Given the description of an element on the screen output the (x, y) to click on. 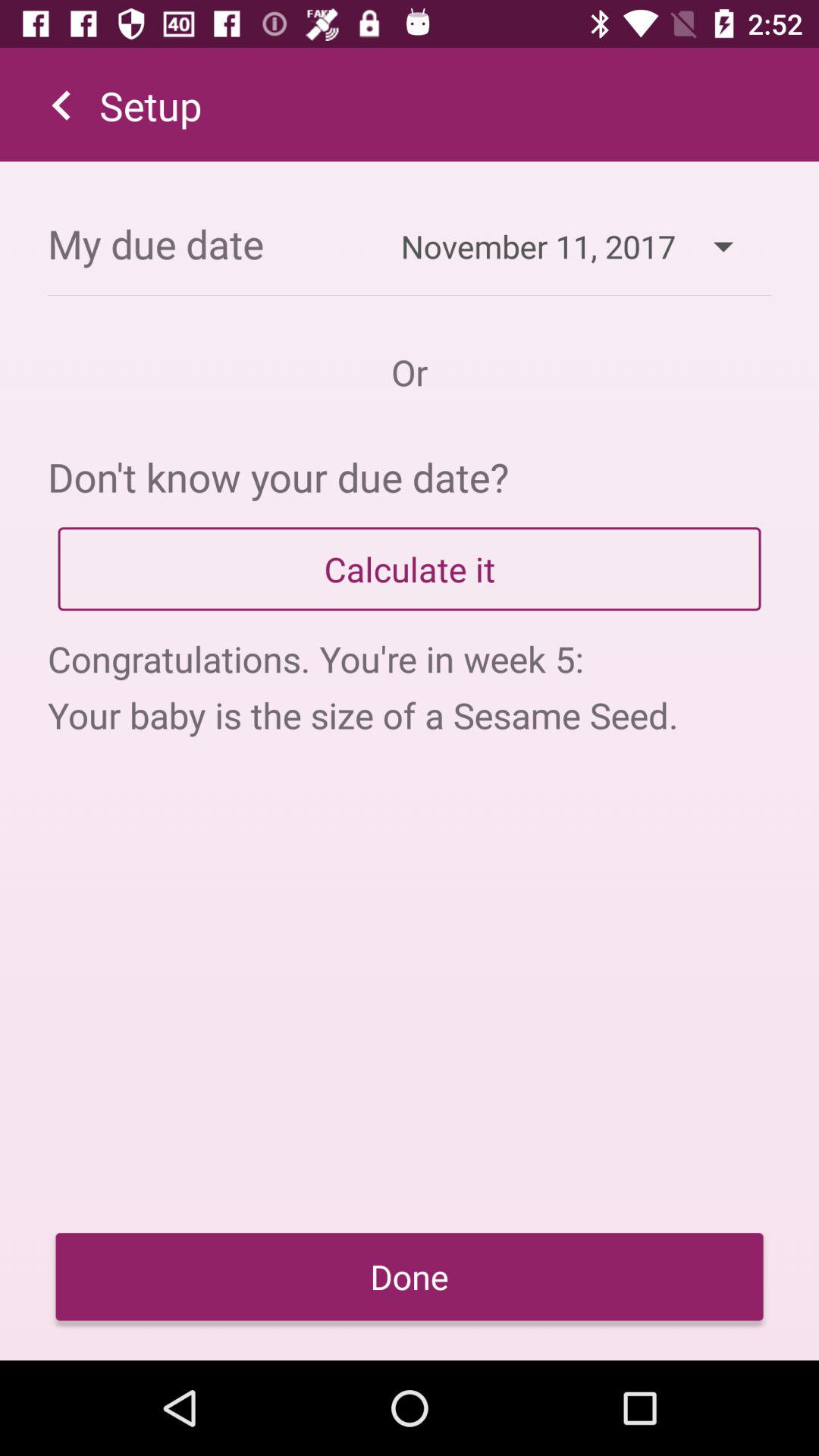
tap calculate it icon (409, 568)
